Given the description of an element on the screen output the (x, y) to click on. 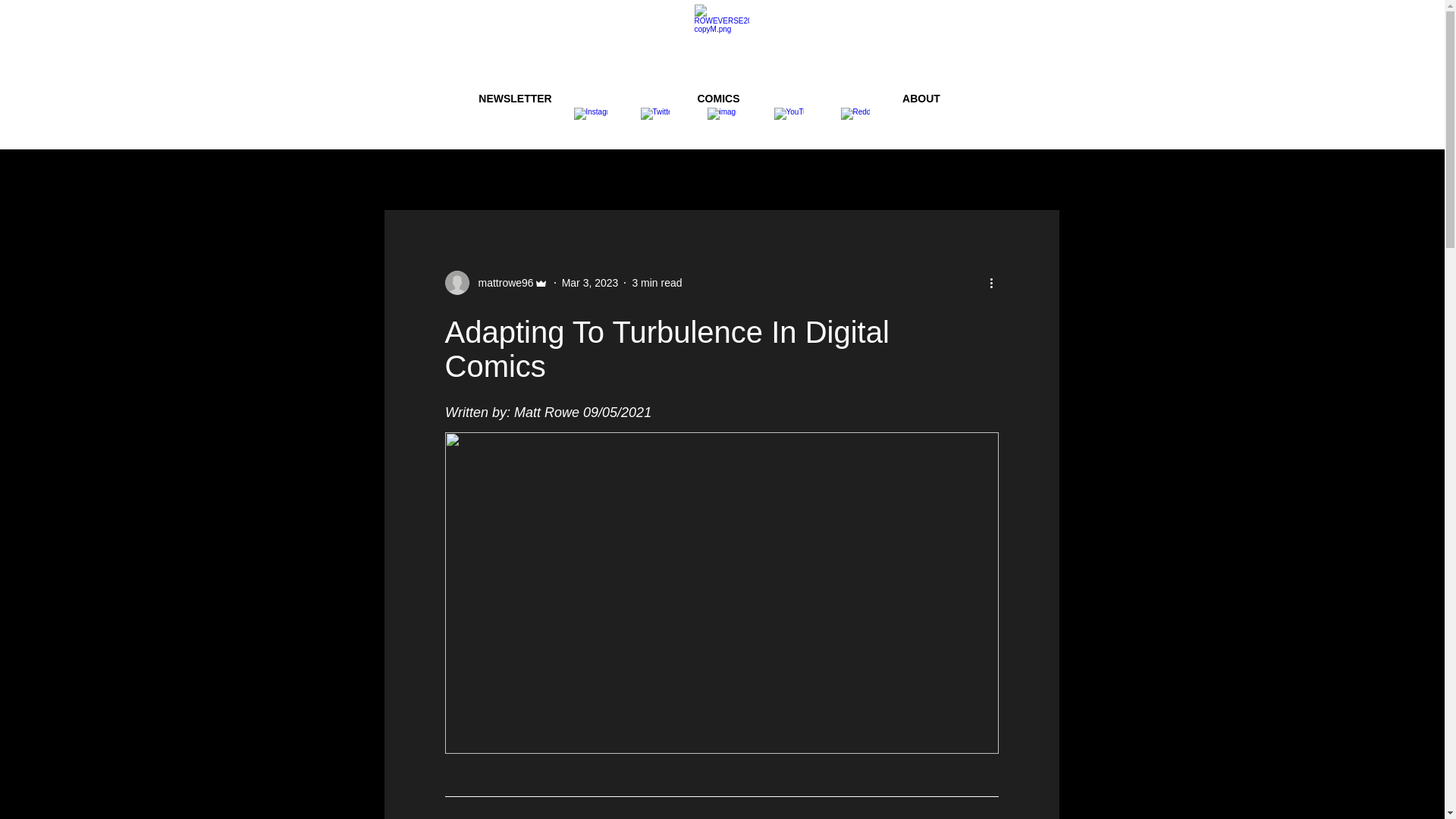
NEWSLETTER (515, 98)
Mar 3, 2023 (590, 282)
All Posts (416, 179)
3 min read (656, 282)
mattrowe96 (500, 282)
mattrowe96 (495, 282)
COMICS (719, 98)
ABOUT (922, 98)
